Given the description of an element on the screen output the (x, y) to click on. 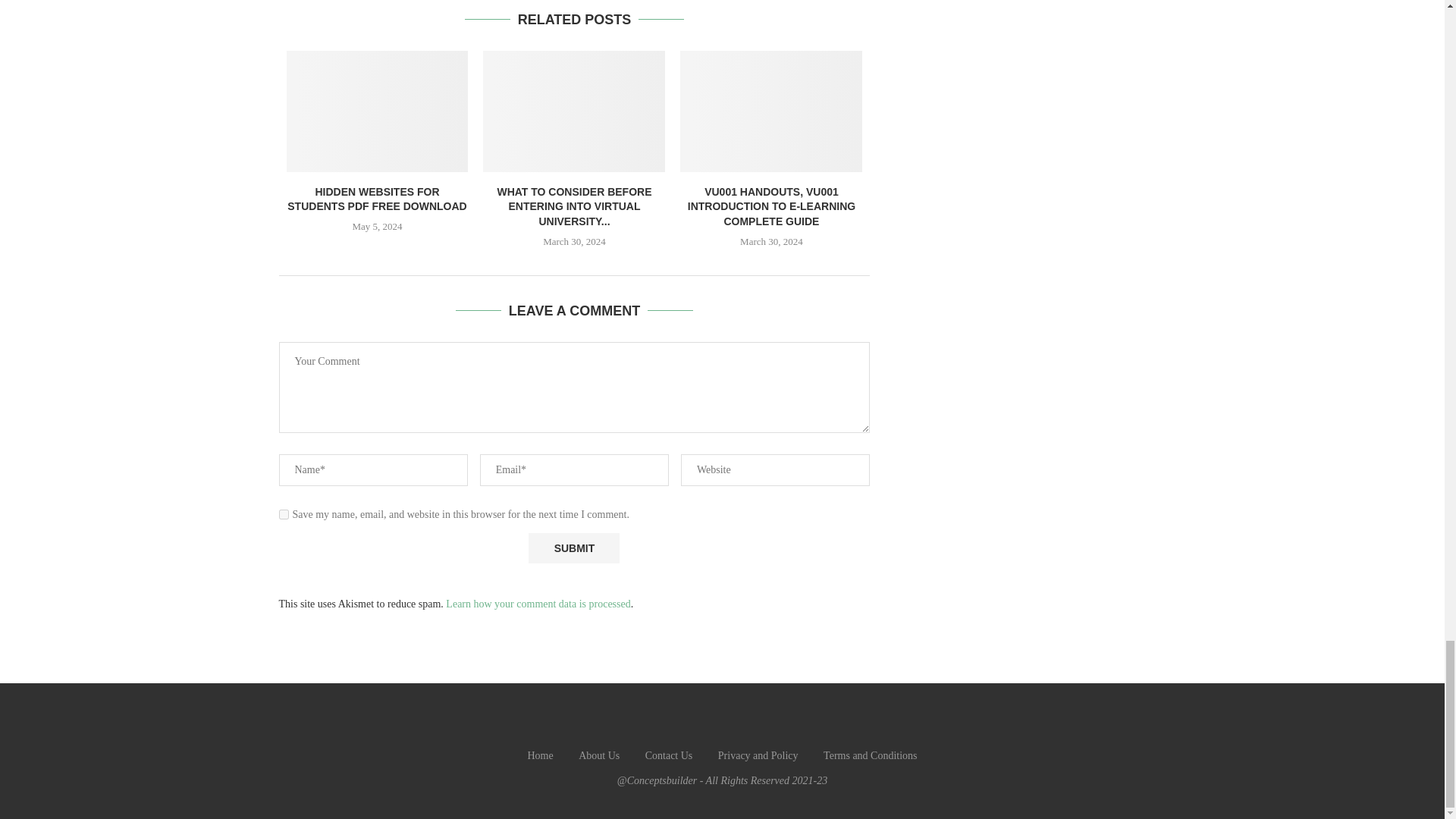
yes (283, 514)
Submit (574, 548)
